Given the description of an element on the screen output the (x, y) to click on. 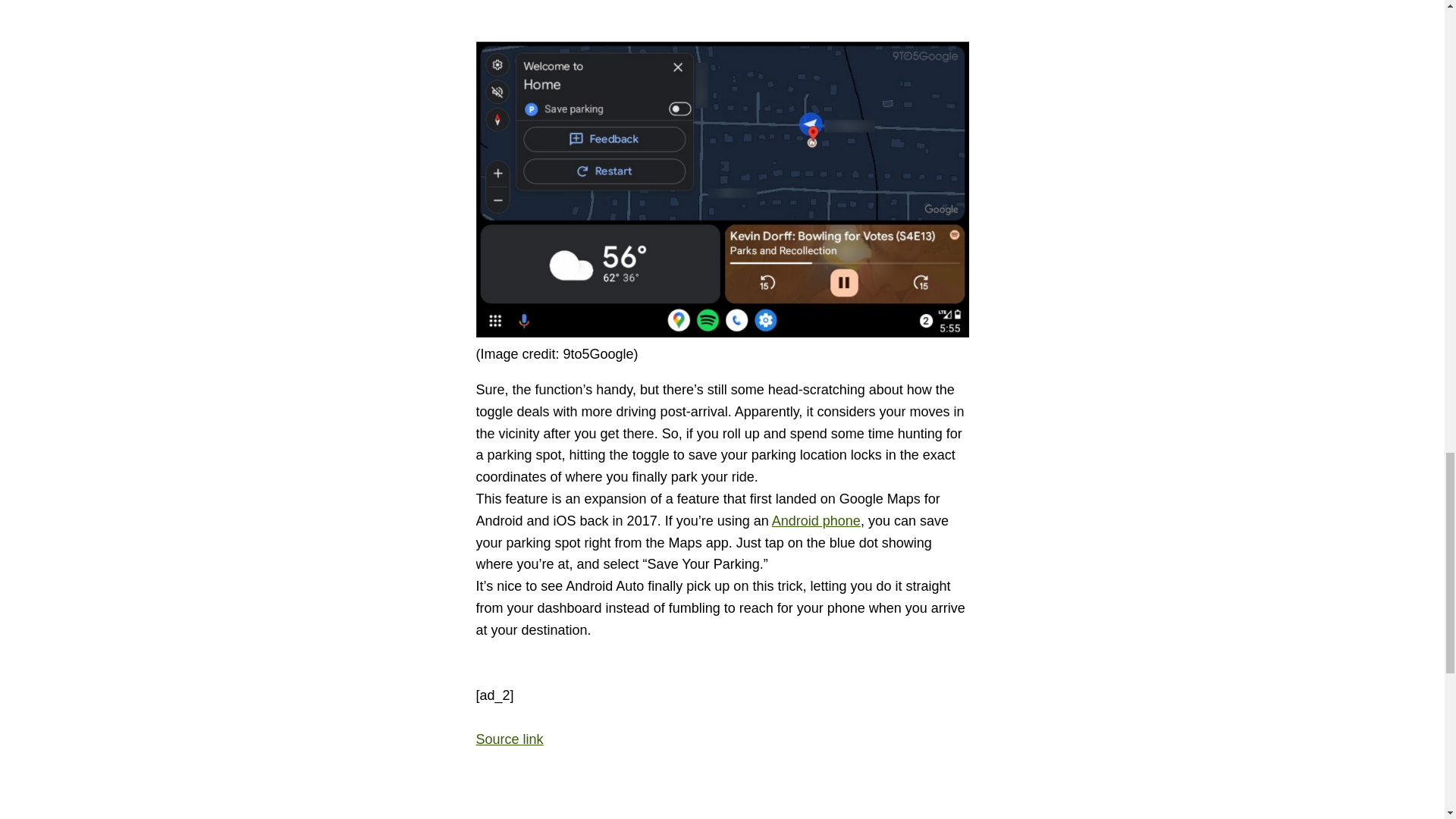
Source link (509, 739)
Android phone (815, 520)
